Given the description of an element on the screen output the (x, y) to click on. 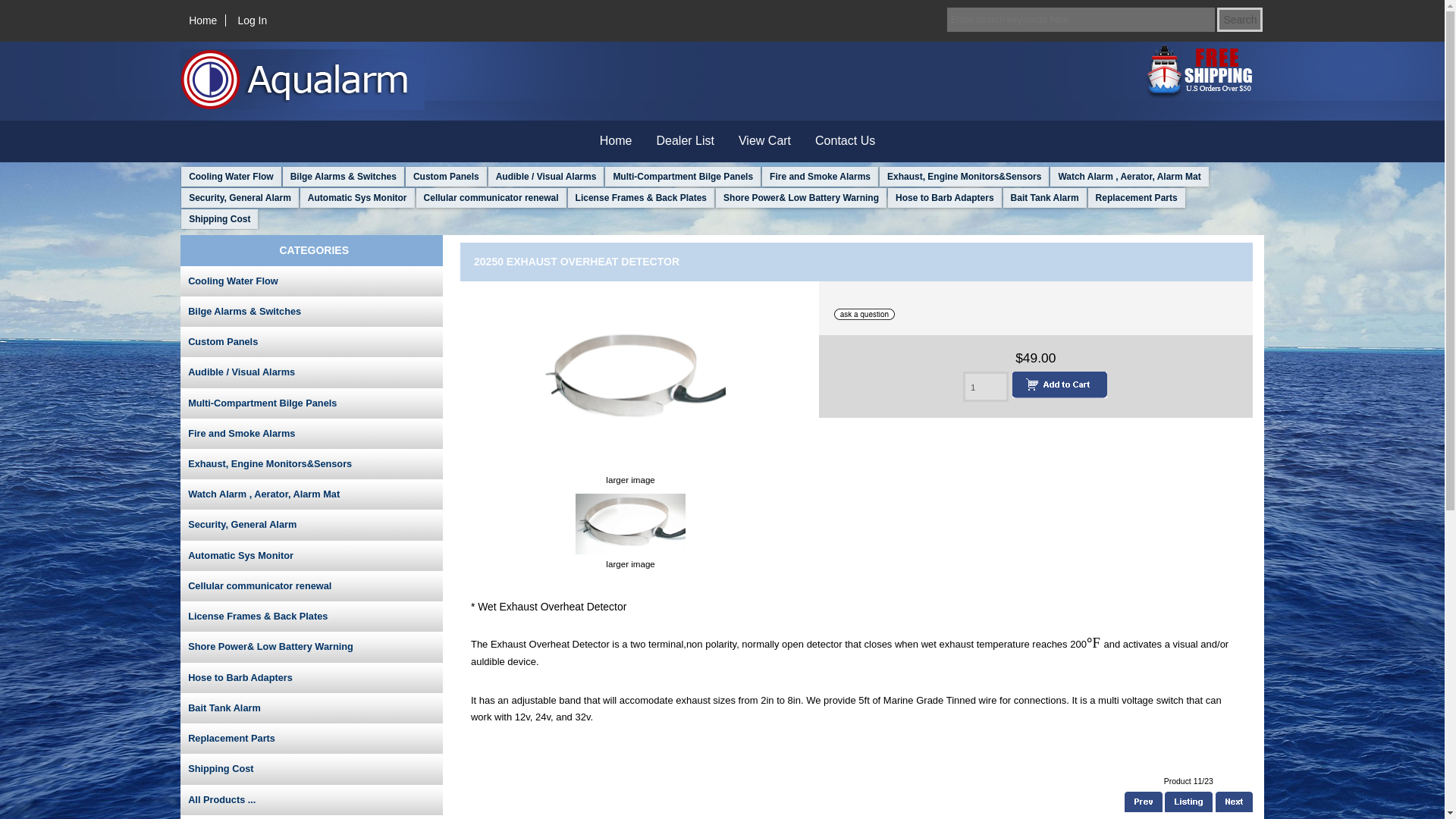
Security, General Alarm (311, 524)
1 (985, 386)
Replacement Parts (1136, 198)
Next (1233, 801)
Multi-Compartment Bilge Panels (311, 403)
Ask a Question (864, 314)
Cellular communicator renewal (491, 198)
Dealer List (685, 141)
Fire and Smoke Alarms (311, 433)
Automatic Sys Monitor (311, 555)
Hose to Barb Adapters (311, 677)
Add to Cart (1057, 384)
Log In (251, 20)
Multi-Compartment Bilge Panels (682, 176)
Cooling Water Flow (230, 176)
